Given the description of an element on the screen output the (x, y) to click on. 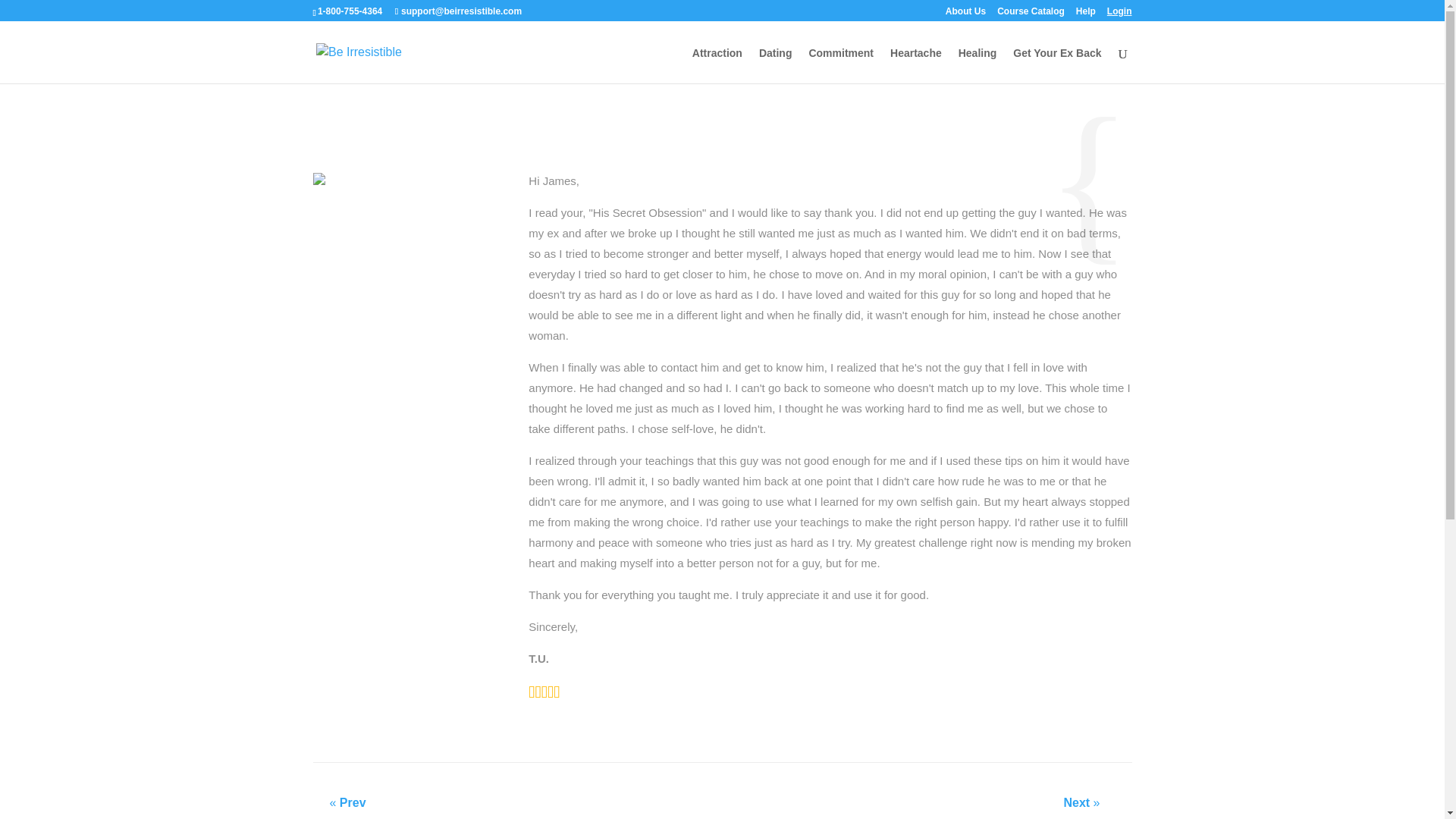
Dating (775, 65)
About Us (964, 14)
Help (1085, 14)
1-800-755-4364 (349, 10)
Login (1119, 14)
Attraction (717, 65)
Commitment (840, 65)
Dating (775, 65)
Course Catalog (1030, 14)
Heartache (915, 65)
Get Your Ex Back (1056, 65)
Commitment (840, 65)
Healing (977, 65)
